Given the description of an element on the screen output the (x, y) to click on. 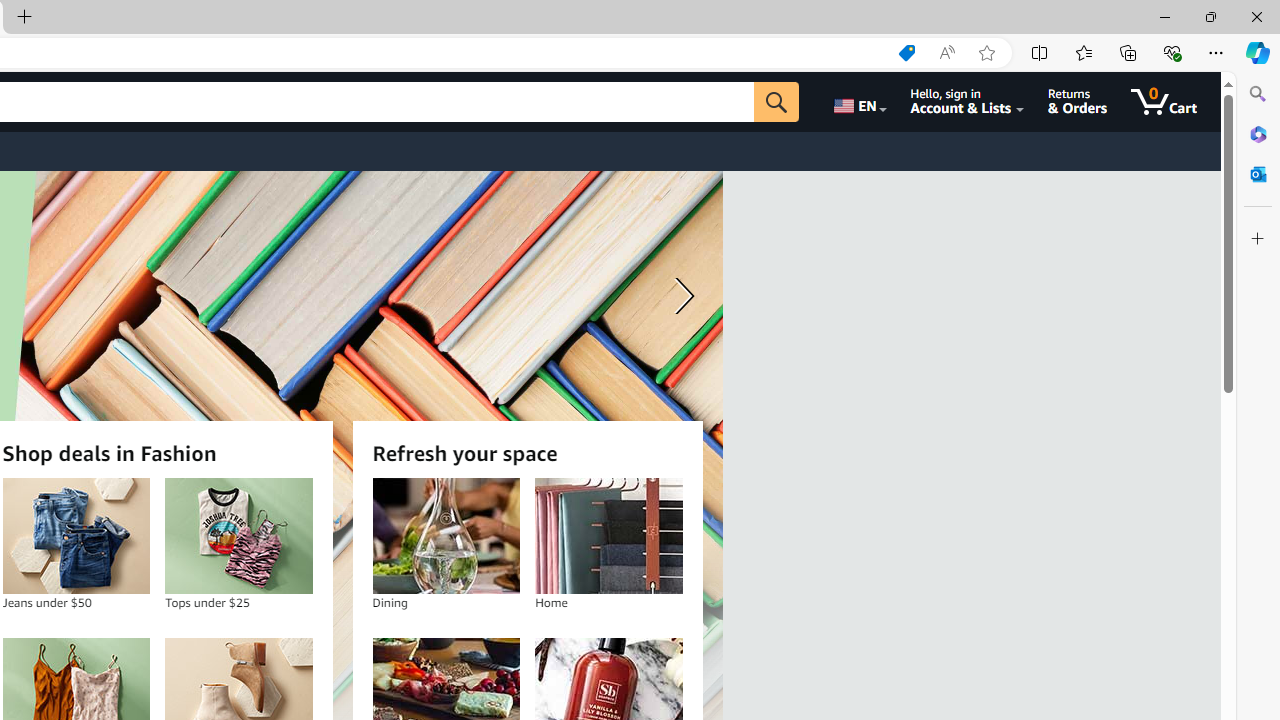
Next slide (680, 296)
Go (776, 101)
Shopping in Microsoft Edge (906, 53)
0 items in cart (1163, 101)
Jeans under $50 (75, 536)
Returns & Orders (1077, 101)
